Given the description of an element on the screen output the (x, y) to click on. 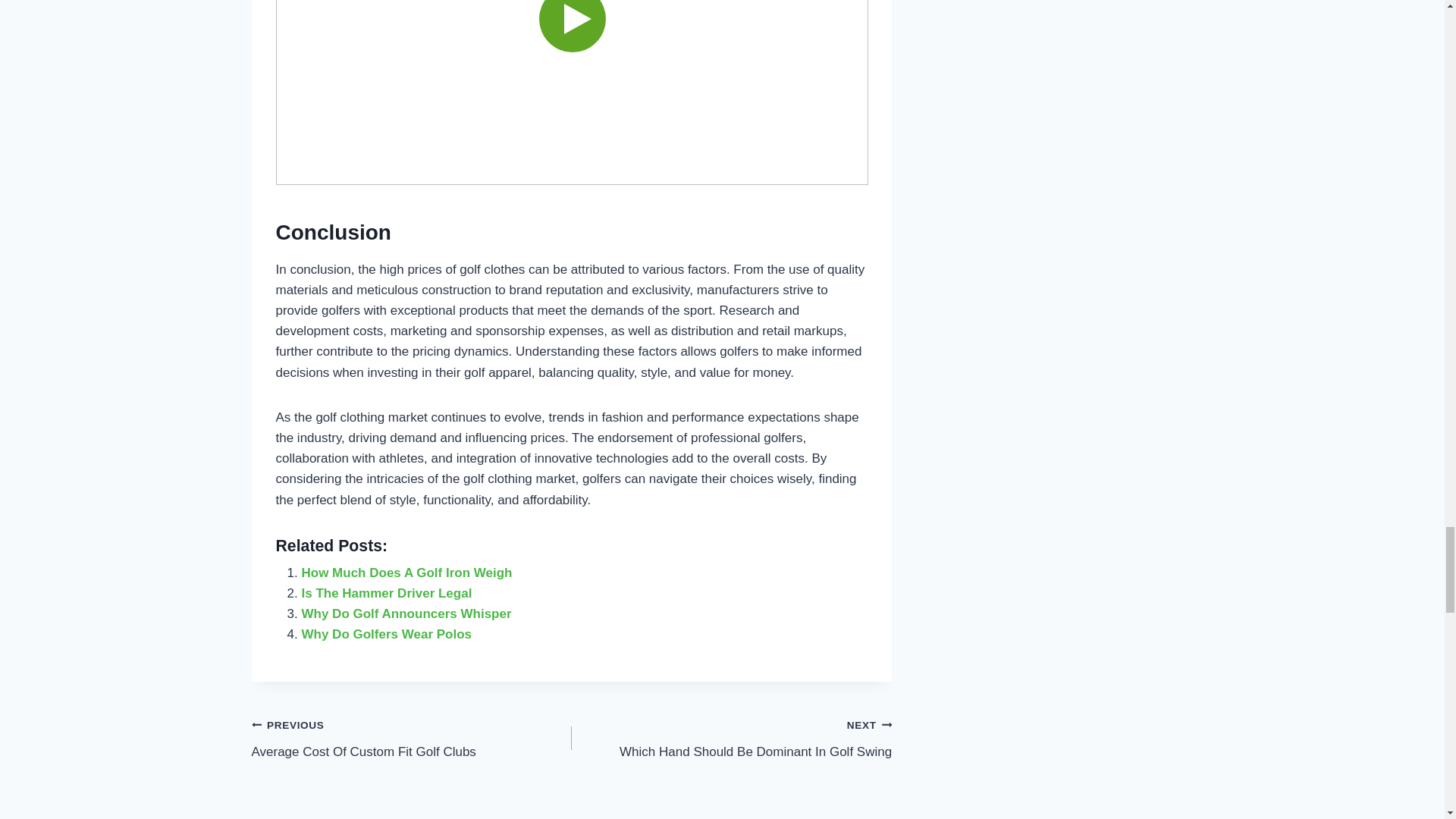
How Much Does A Golf Iron Weigh (406, 572)
Is The Hammer Driver Legal (411, 738)
Why Do Golfers Wear Polos (731, 738)
Why Do Golfers Wear Polos (386, 593)
Is The Hammer Driver Legal (386, 634)
Does a More Expensive Golf Shirt Make You a Better Golfer? (386, 634)
Why Do Golf Announcers Whisper (386, 593)
Why Do Golf Announcers Whisper (571, 92)
